Given the description of an element on the screen output the (x, y) to click on. 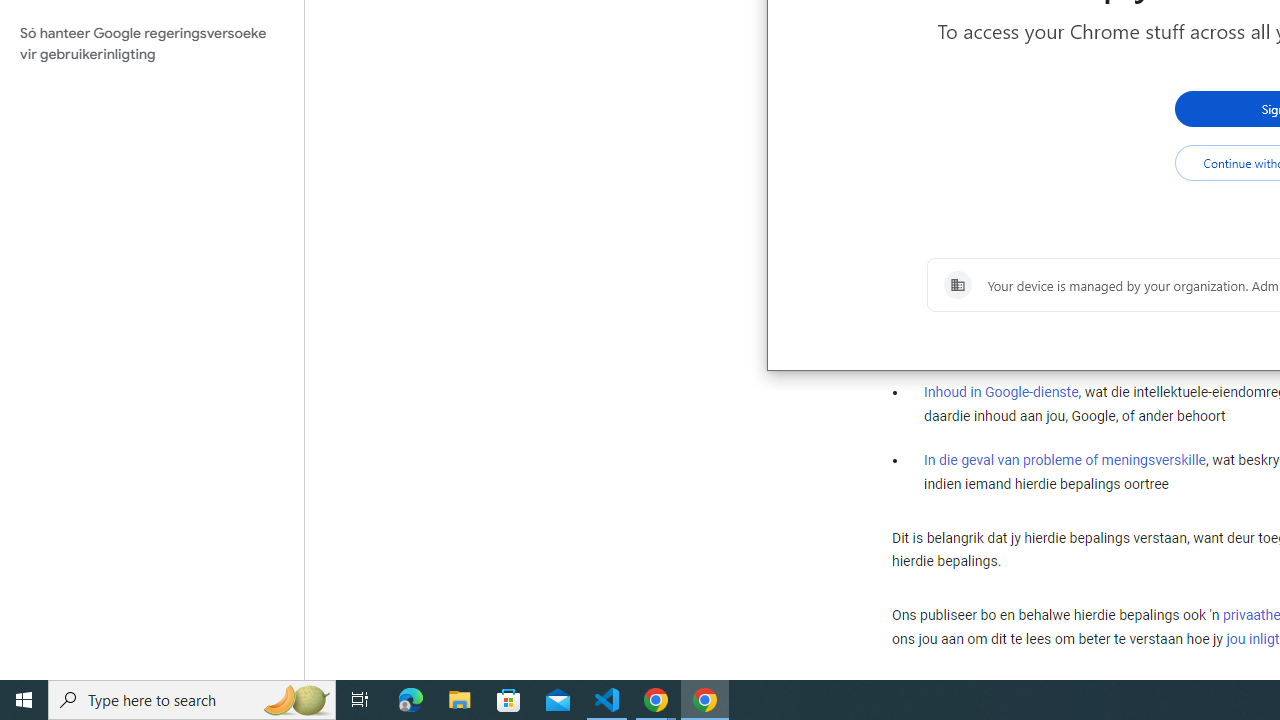
Google Chrome - 2 running windows (656, 699)
Search highlights icon opens search home window (295, 699)
Task View (359, 699)
Type here to search (191, 699)
File Explorer (460, 699)
Start (24, 699)
Microsoft Edge (411, 699)
Visual Studio Code - 1 running window (607, 699)
Microsoft Store (509, 699)
Google Chrome - 1 running window (704, 699)
In die geval van probleme of meningsverskille (1064, 459)
